Given the description of an element on the screen output the (x, y) to click on. 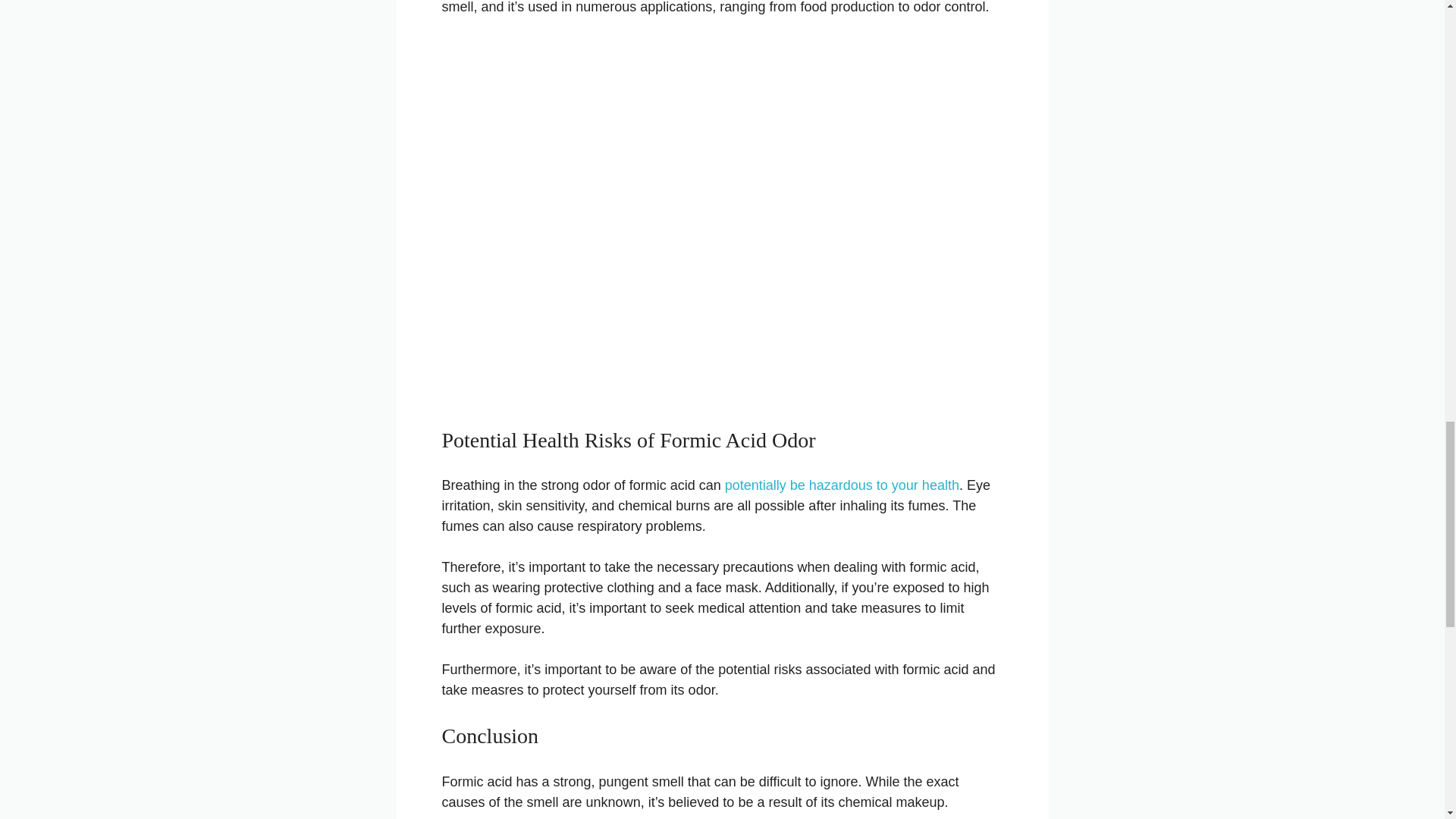
potentially be hazardous to your health (842, 485)
